Given the description of an element on the screen output the (x, y) to click on. 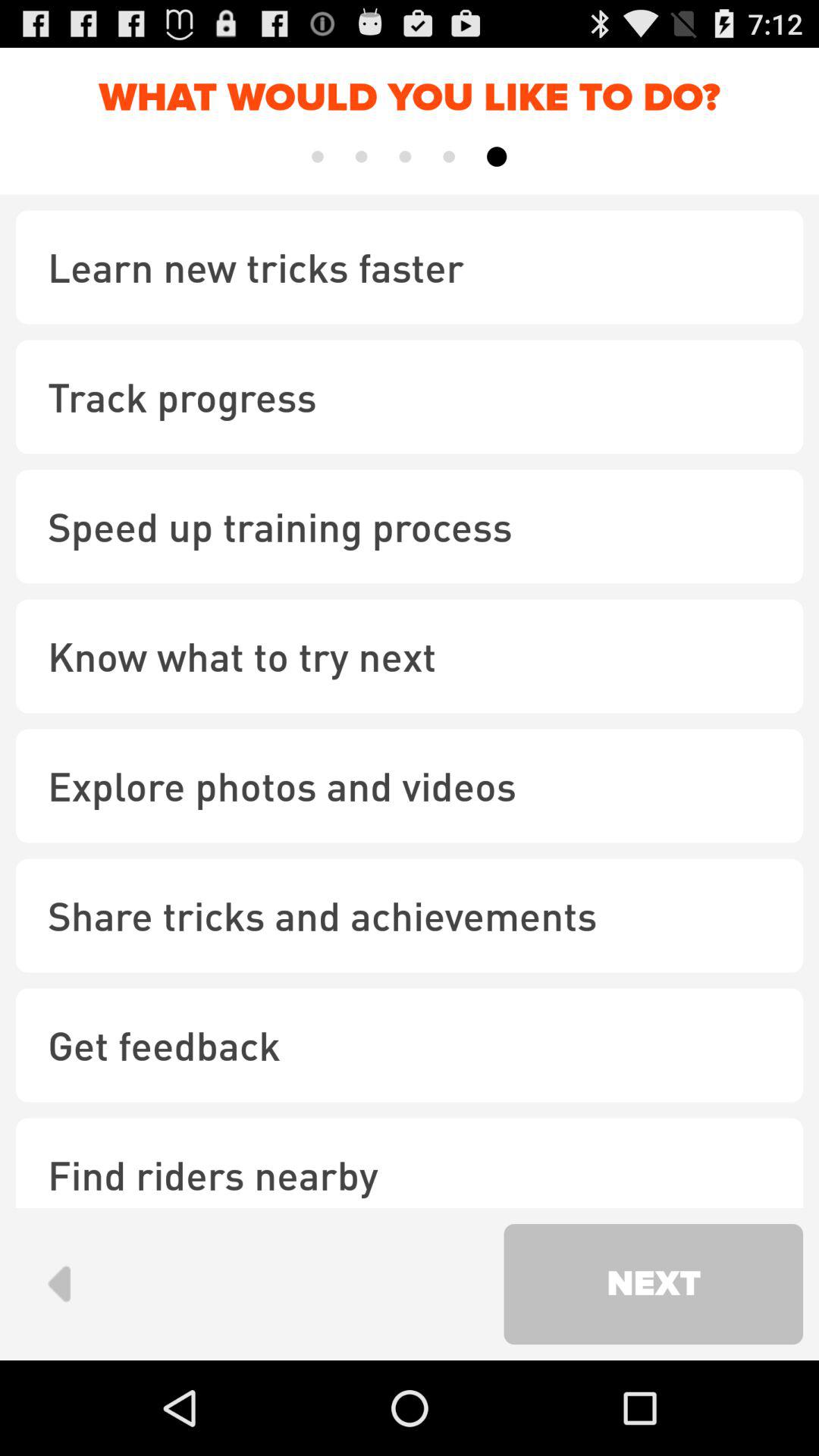
turn on find riders nearby (409, 1163)
